Given the description of an element on the screen output the (x, y) to click on. 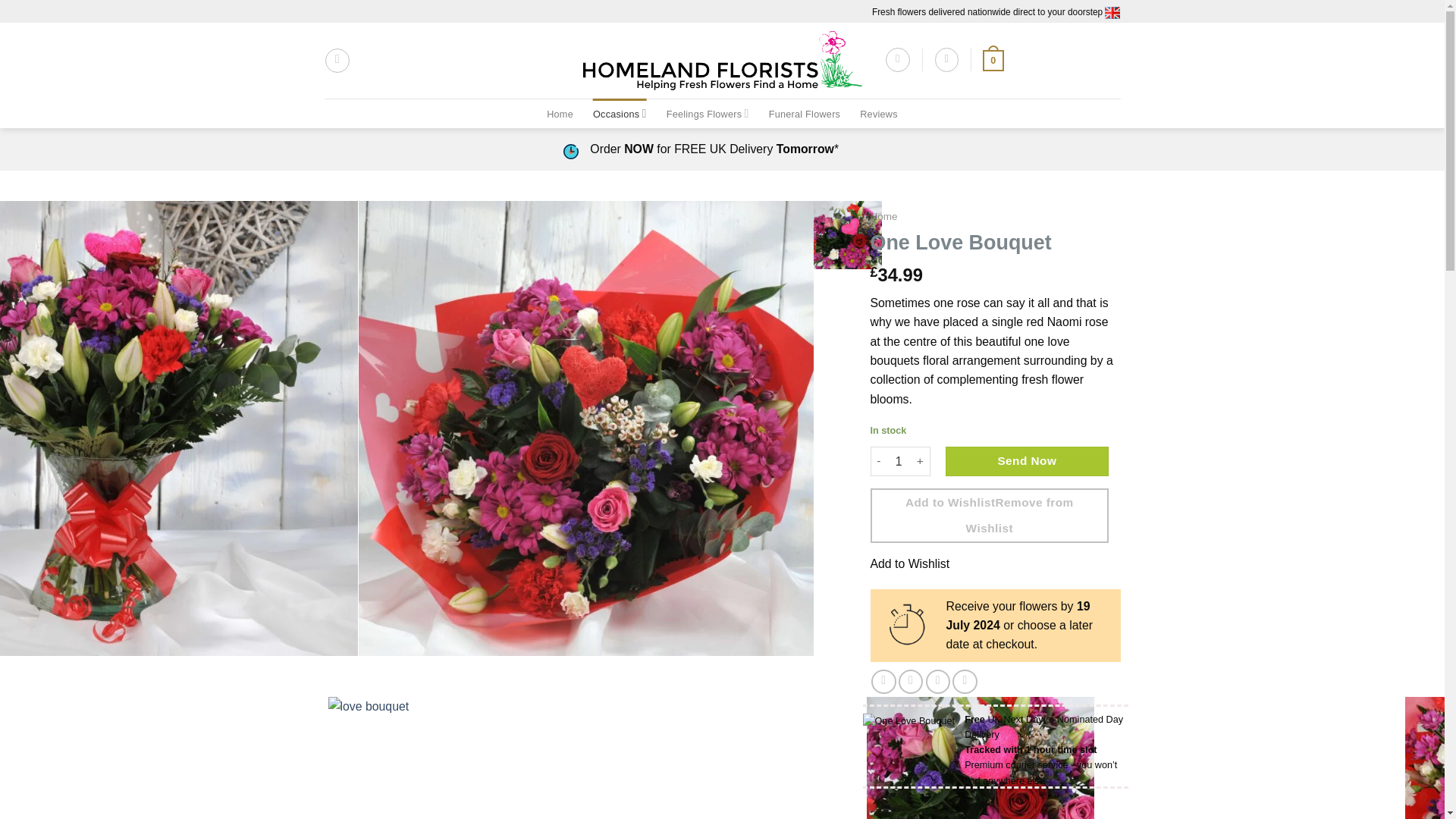
1 (898, 461)
Share on Twitter (910, 681)
Share on Tumblr (964, 681)
Basket (993, 60)
0 (993, 60)
Reviews (879, 113)
Pin on Pinterest (938, 681)
Feelings Flowers (707, 112)
Home (560, 113)
Funeral Flowers (804, 113)
- (878, 461)
Occasions (619, 112)
One Love Bouquet (847, 234)
